Given the description of an element on the screen output the (x, y) to click on. 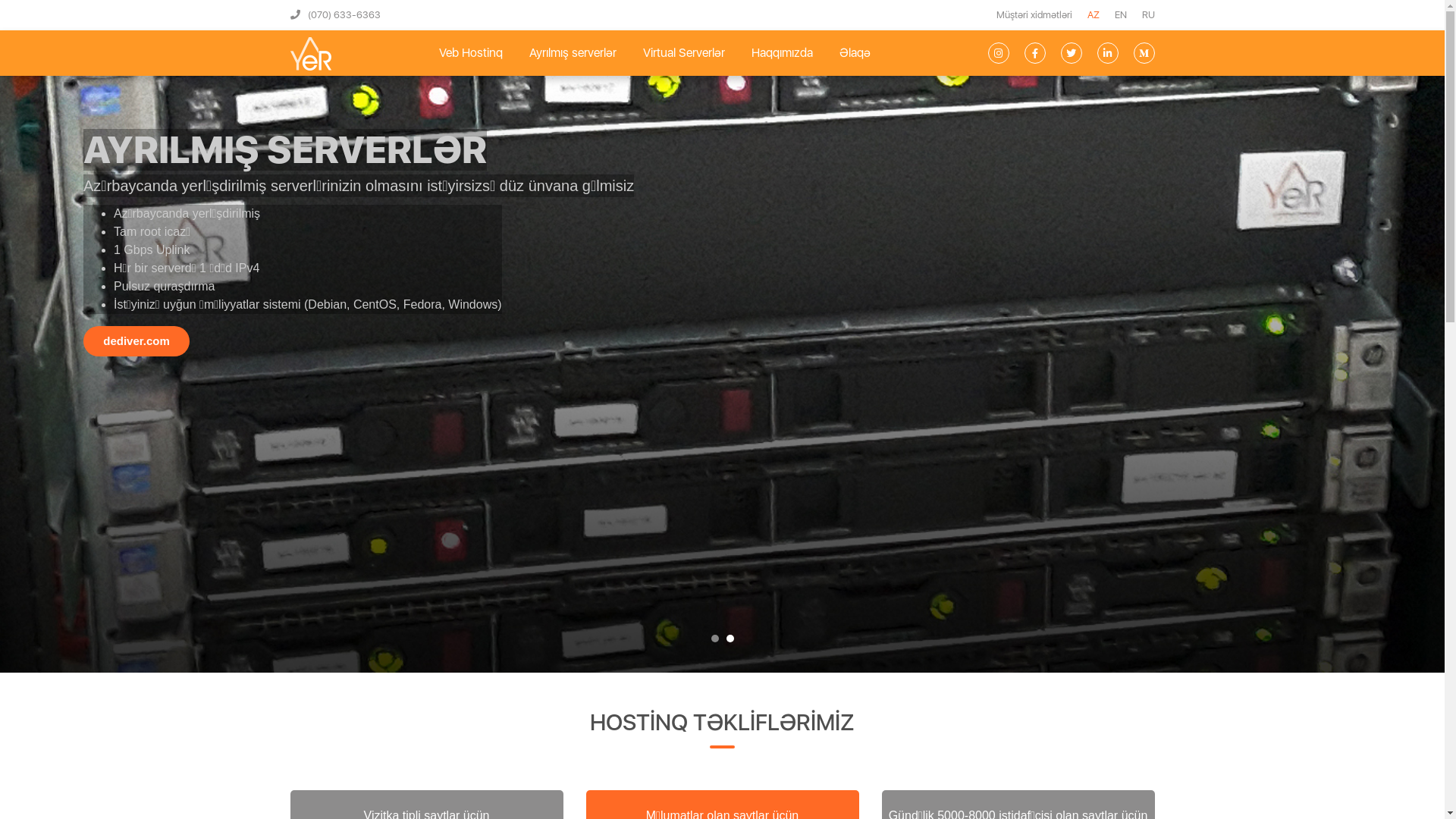
Veb Hostinq Element type: text (470, 53)
Medium Element type: hover (1143, 52)
RU Element type: text (1148, 15)
Facebook Element type: hover (1033, 52)
AZ Element type: text (1093, 15)
LinkedIn Element type: hover (1106, 52)
Twitter Element type: hover (1070, 52)
EN Element type: text (1120, 15)
Instagram Element type: hover (997, 52)
dediver.com Element type: text (136, 341)
(070) 633-6363 Element type: text (334, 15)
